Given the description of an element on the screen output the (x, y) to click on. 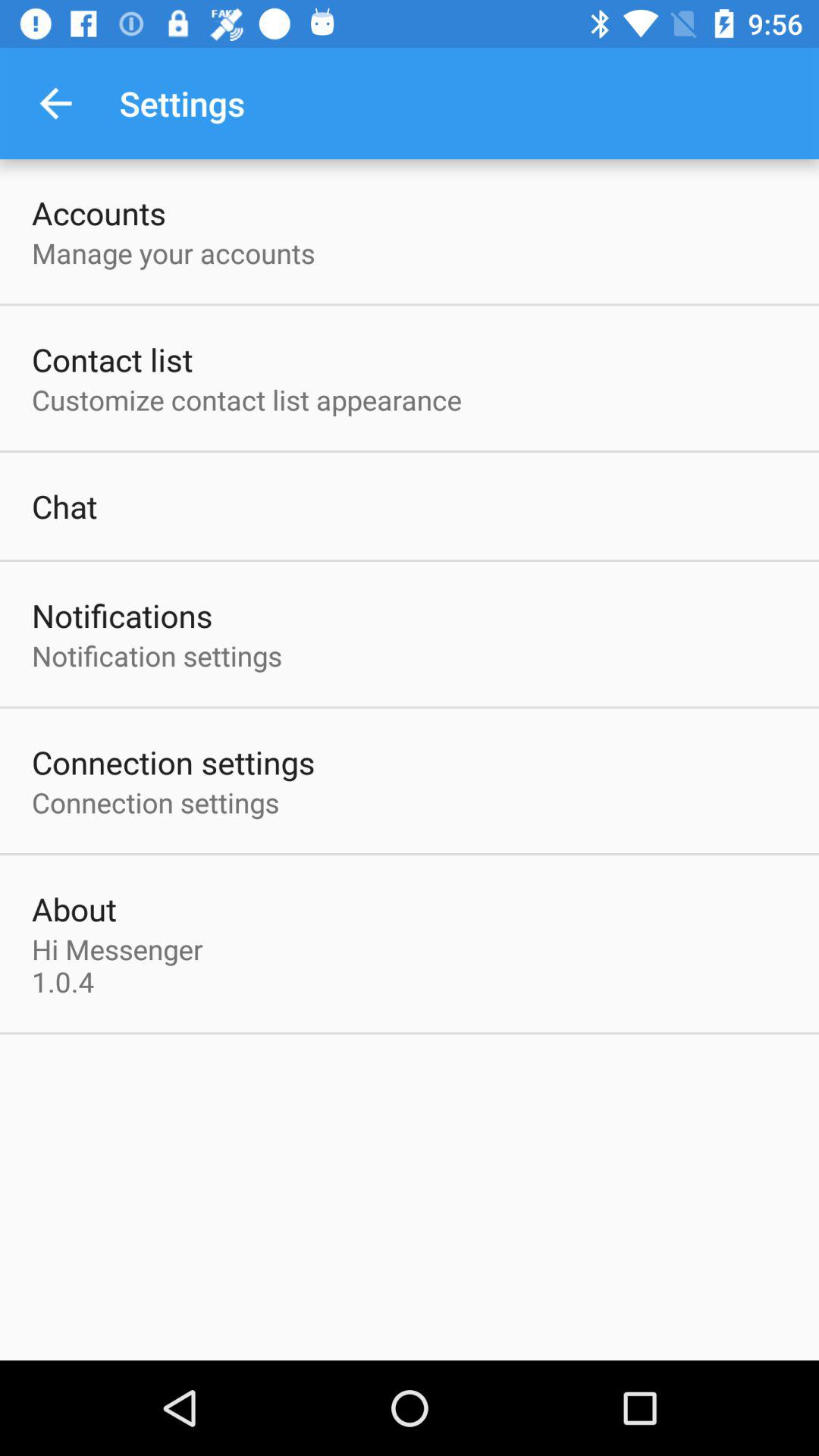
turn on the icon above notification settings icon (121, 615)
